Given the description of an element on the screen output the (x, y) to click on. 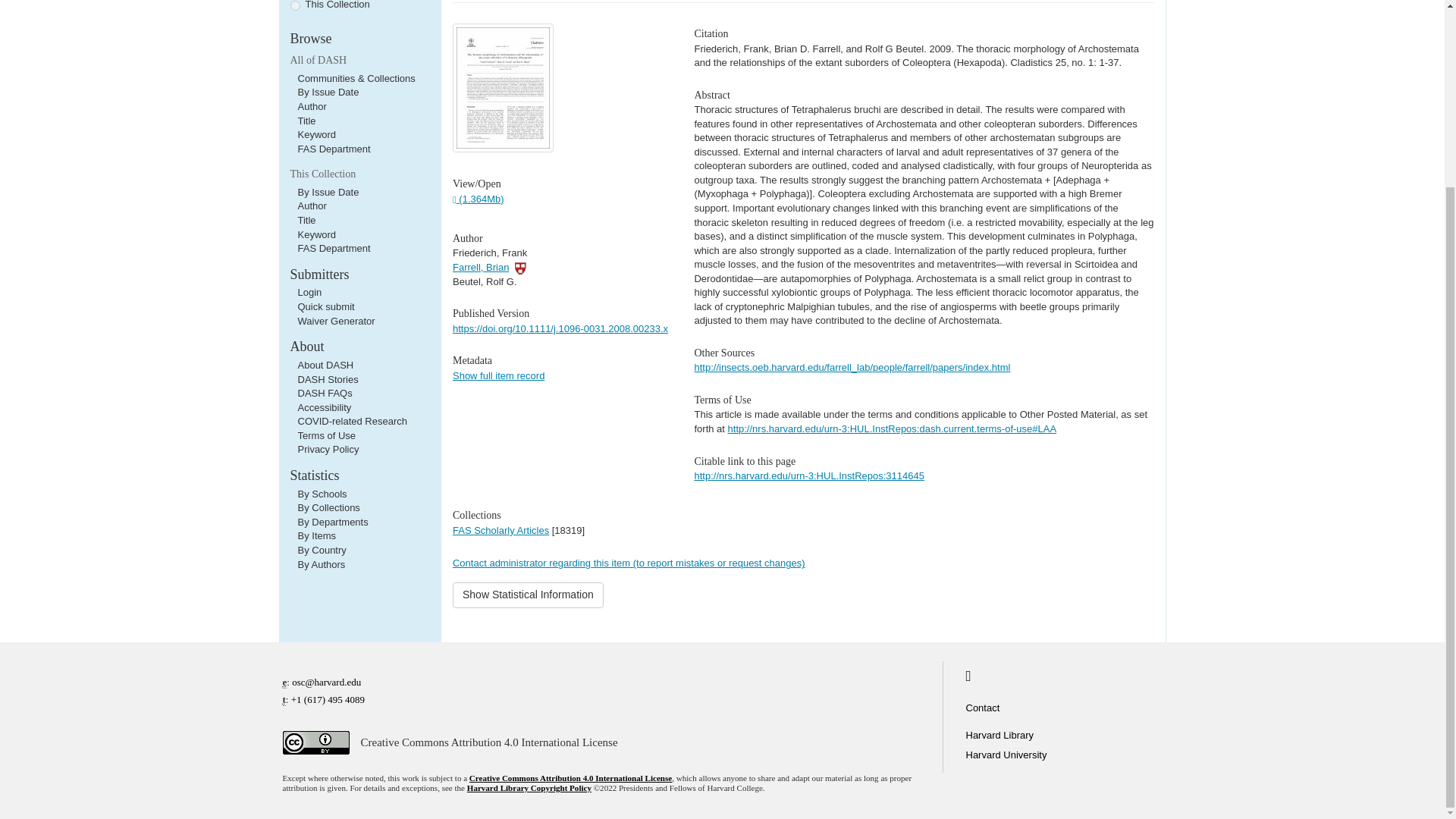
Author (311, 106)
Quick submit (325, 306)
FAS Department (333, 247)
By Issue Date (327, 91)
Title (306, 220)
Keyword (316, 234)
Keyword (316, 134)
HARVARD AFFILIATED (521, 266)
Login (309, 292)
By Issue Date (327, 192)
